Given the description of an element on the screen output the (x, y) to click on. 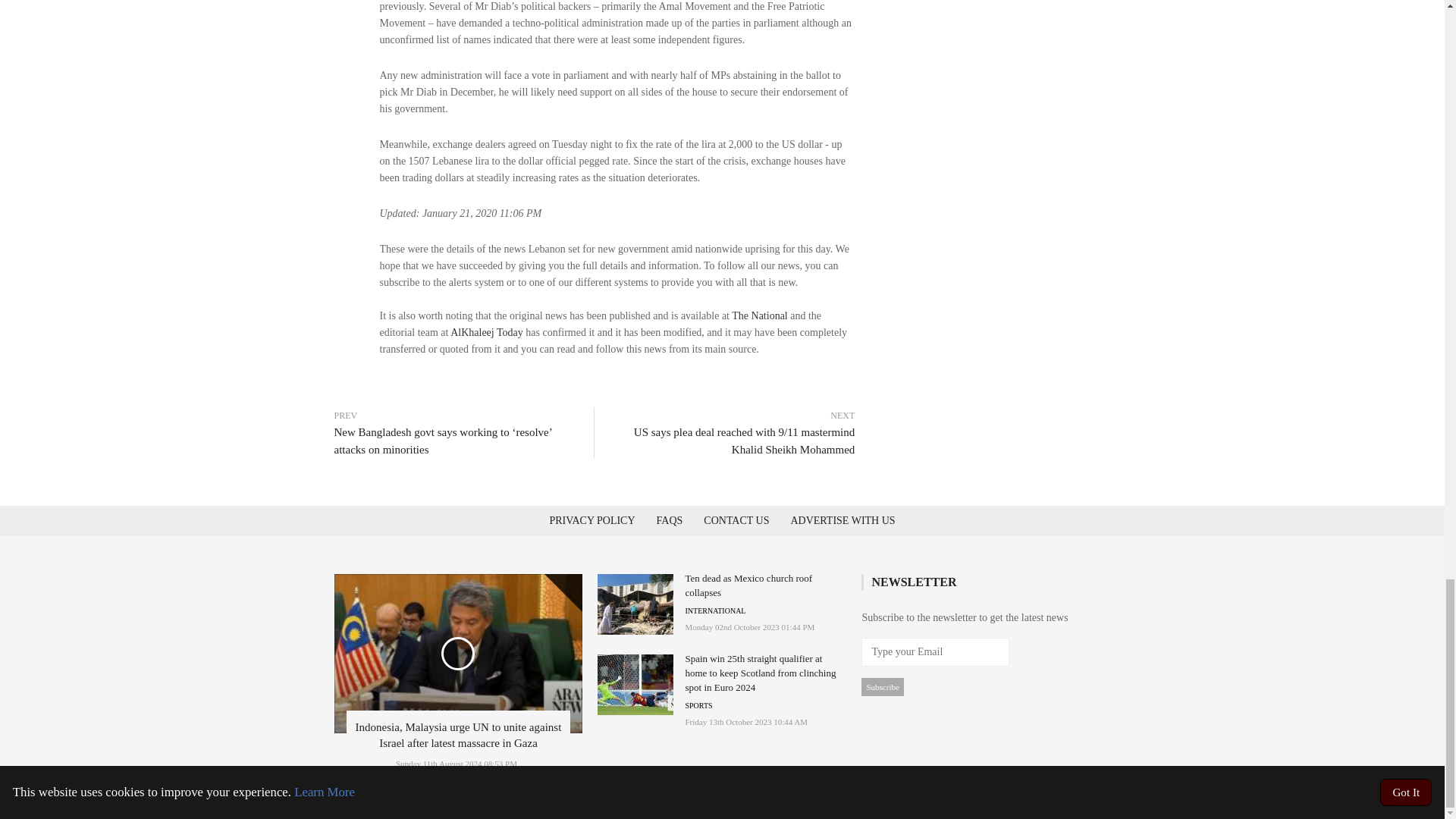
AlKhaleej Today (485, 332)
Subscribe (881, 687)
The National (759, 315)
